Given the description of an element on the screen output the (x, y) to click on. 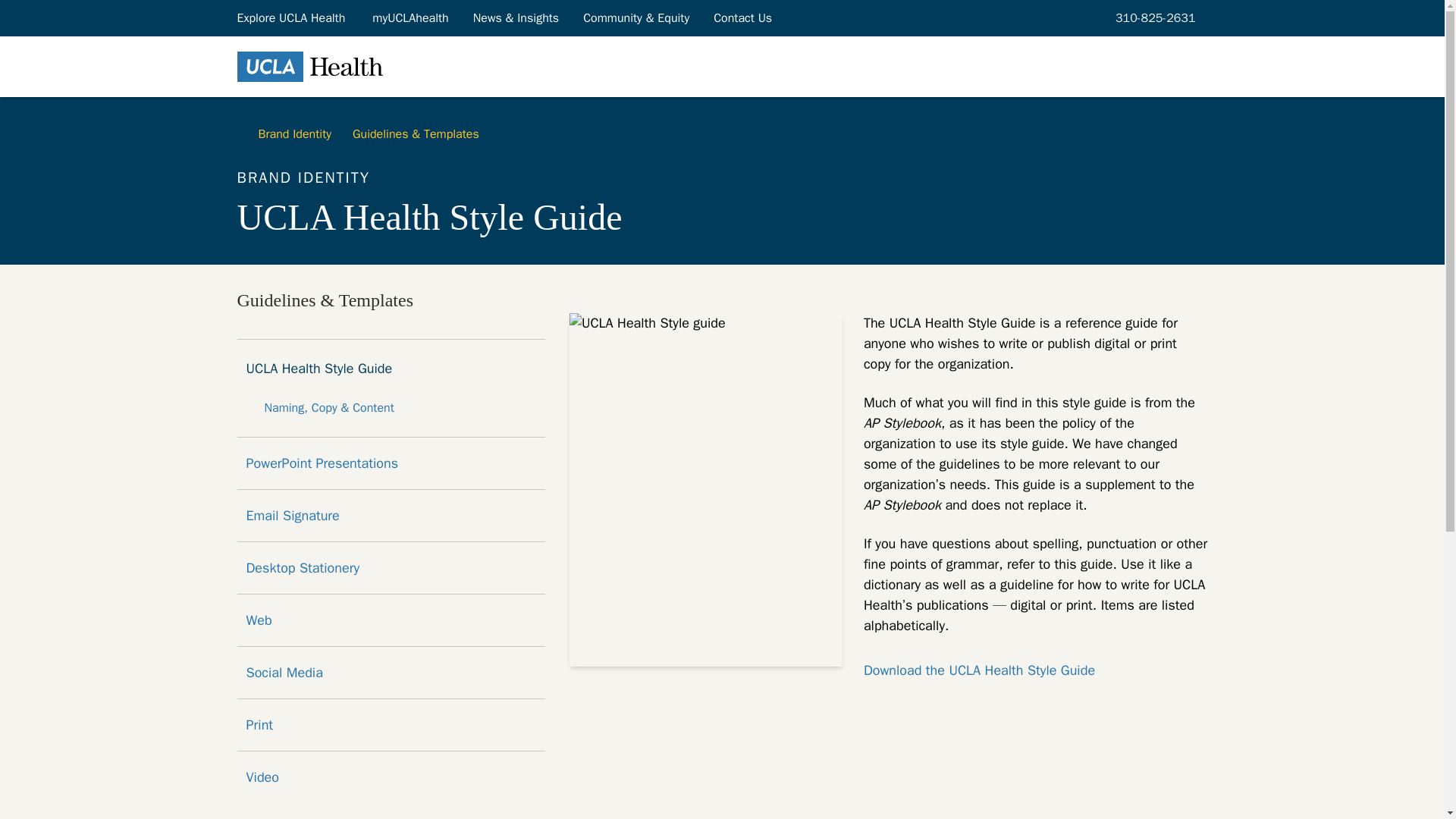
Contact Us (742, 17)
myUCLAhealth Login. (409, 17)
Explore UCLA Health (291, 17)
myUCLAhealth (409, 17)
310-825-2631 (1152, 17)
